Given the description of an element on the screen output the (x, y) to click on. 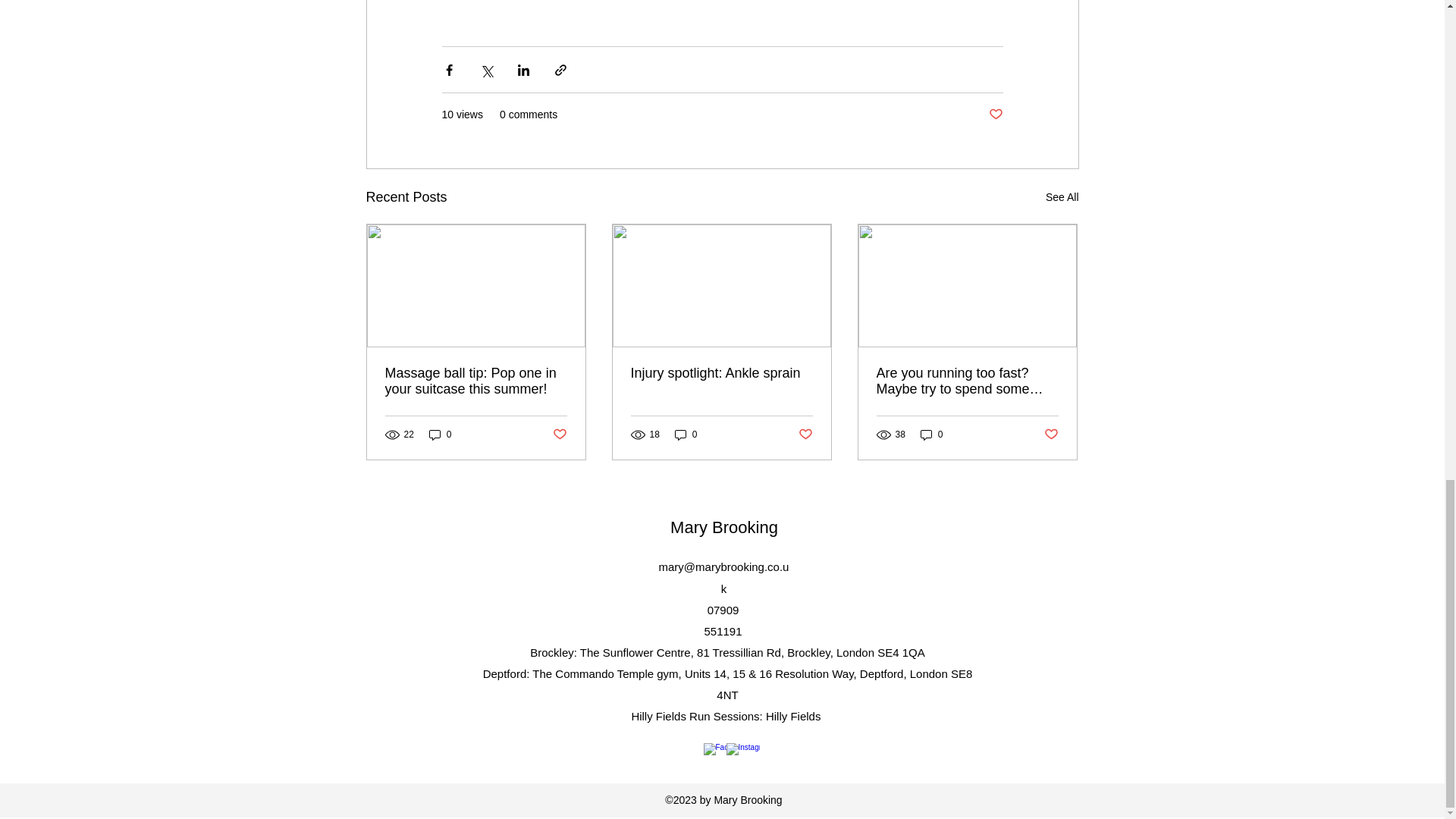
Injury spotlight: Ankle sprain (721, 373)
Post not marked as liked (995, 114)
Massage ball tip: Pop one in your suitcase this summer! (476, 381)
0 (685, 434)
Post not marked as liked (558, 434)
Post not marked as liked (1050, 434)
Post not marked as liked (804, 434)
0 (931, 434)
0 (440, 434)
See All (1061, 197)
